Given the description of an element on the screen output the (x, y) to click on. 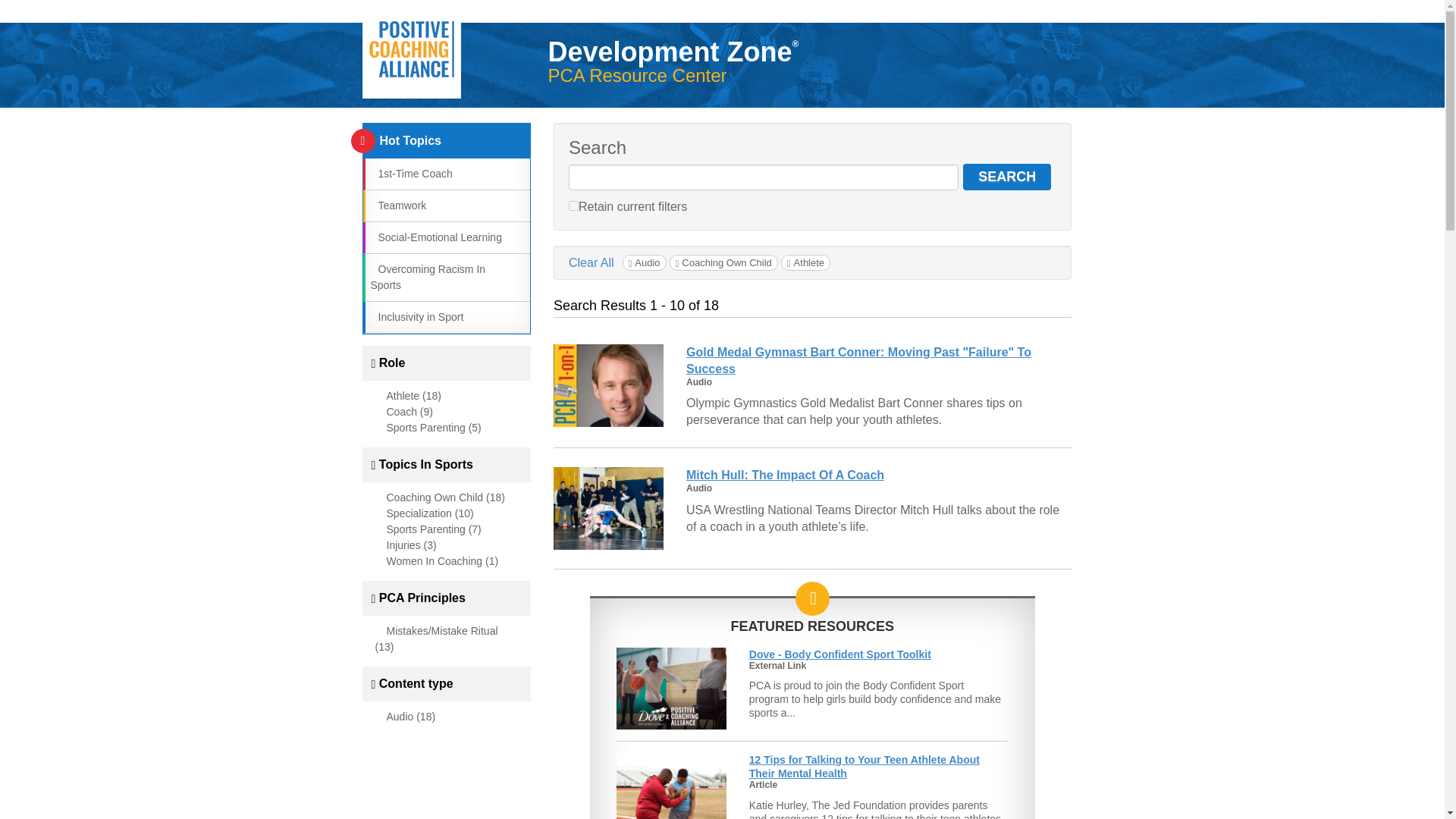
Inclusivity in Sport (416, 316)
1 (573, 205)
Dove - Body Confident Sport Toolkit (840, 654)
Clear All (591, 262)
1st-Time Coach (410, 173)
Teamwork (397, 205)
Social-Emotional Learning (434, 236)
Mitch Hull: The Impact Of A Coach (784, 474)
Coaching Own Child (723, 262)
